Given the description of an element on the screen output the (x, y) to click on. 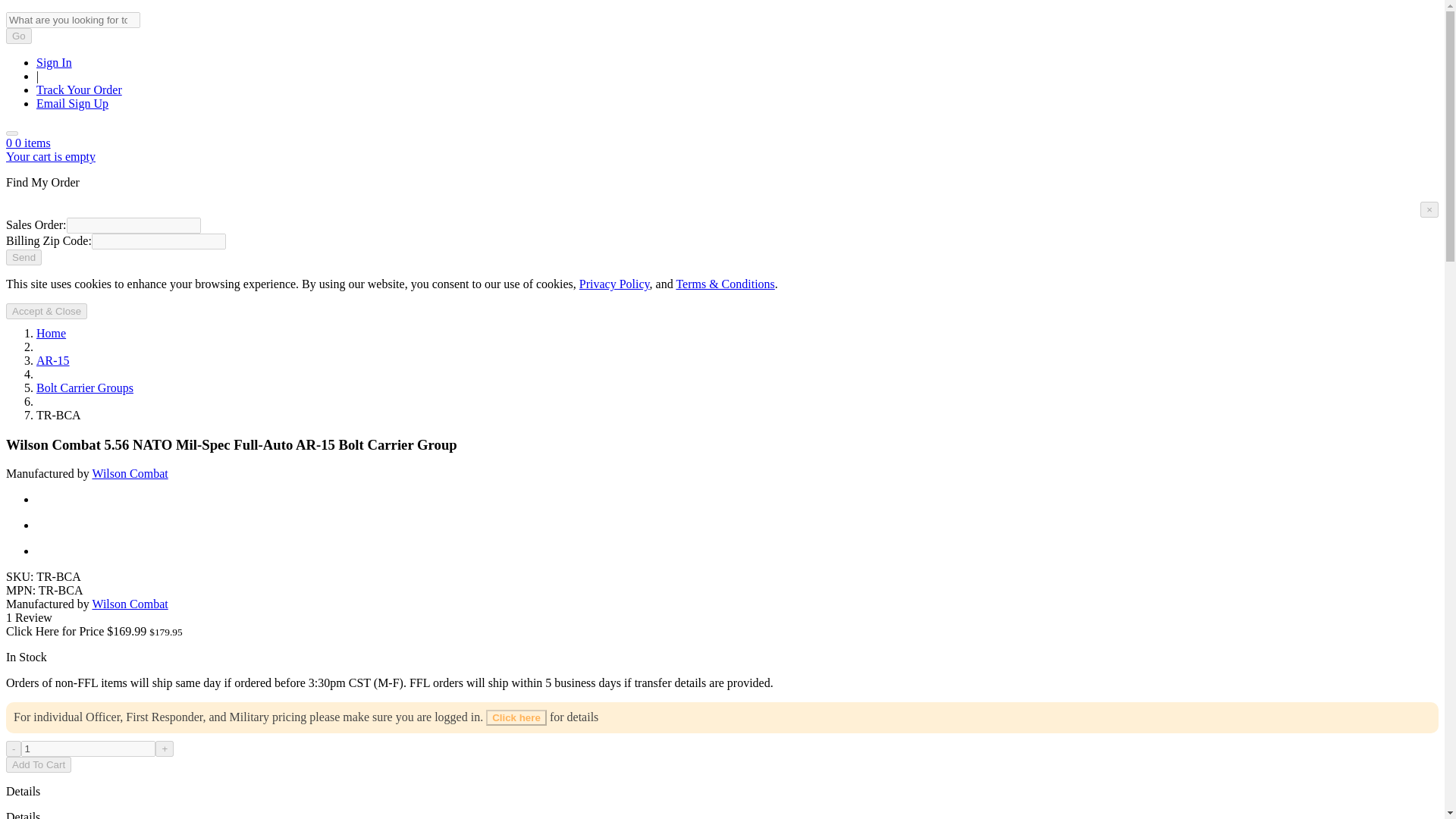
Bolt Carrier Groups (84, 387)
Track Your Order (79, 89)
Wilson Combat (129, 472)
Email Sign Up (71, 103)
Privacy Policy (614, 283)
- (13, 748)
AR-15 (52, 359)
Search (11, 133)
Cart (27, 142)
Home (50, 332)
